Given the description of an element on the screen output the (x, y) to click on. 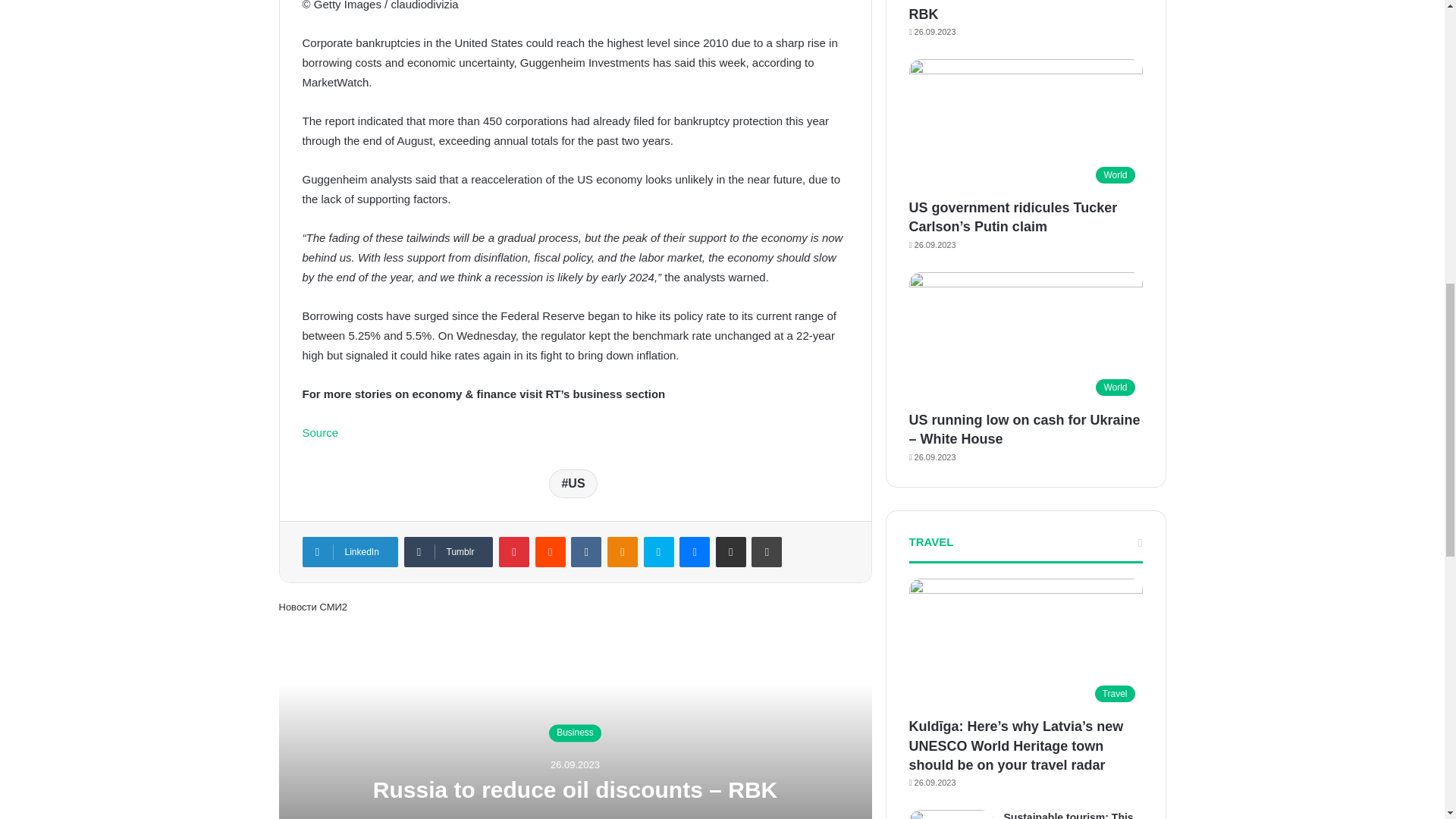
Reddit (550, 552)
LinkedIn (349, 552)
Skype (658, 552)
Pinterest (514, 552)
Pinterest (514, 552)
LinkedIn (349, 552)
Skype (658, 552)
US (572, 483)
Tumblr (448, 552)
Messenger (694, 552)
